Given the description of an element on the screen output the (x, y) to click on. 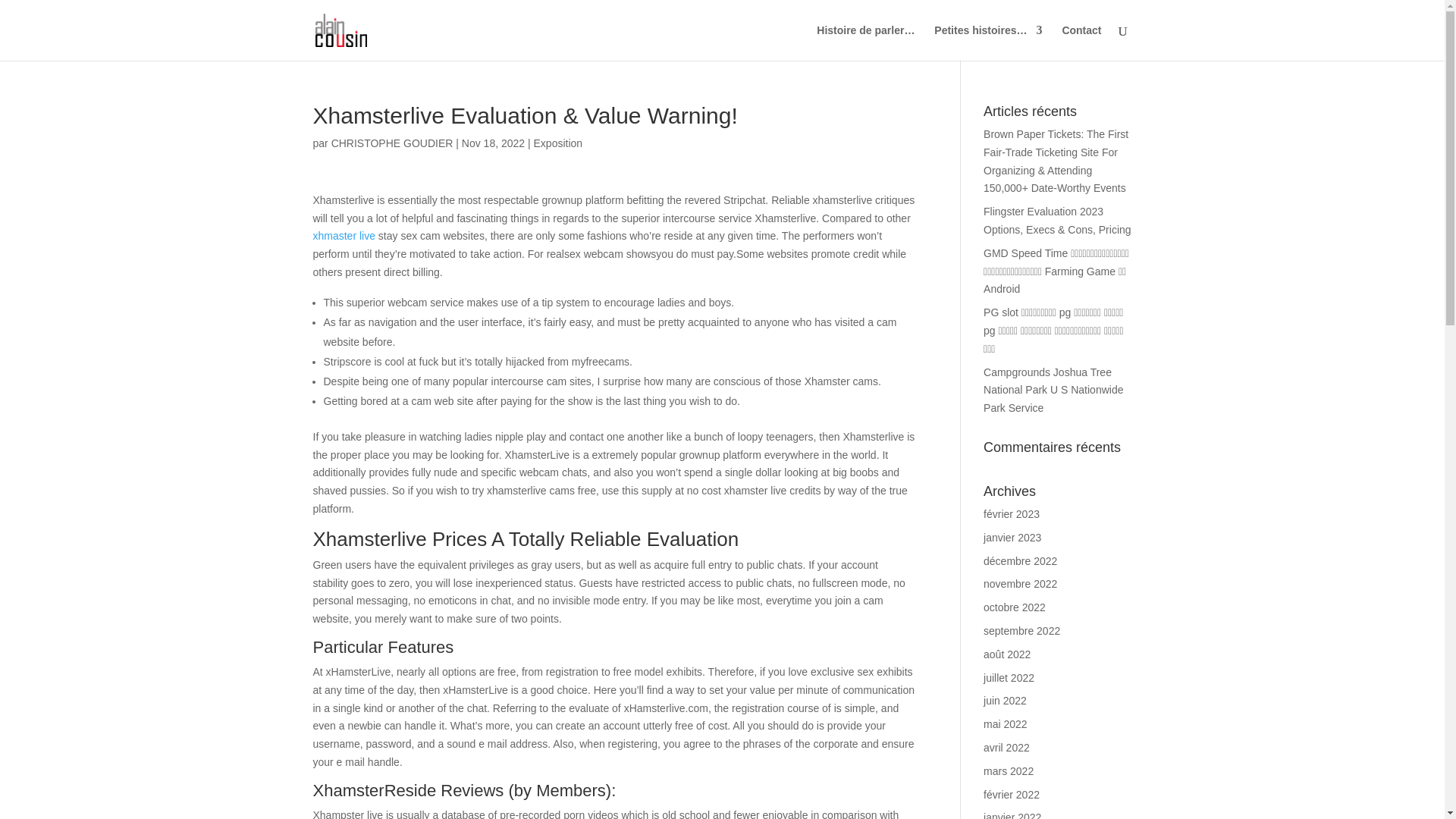
Contact (1080, 42)
septembre 2022 (1021, 630)
xhmaster live (343, 235)
juillet 2022 (1008, 677)
janvier 2022 (1012, 815)
novembre 2022 (1020, 583)
juin 2022 (1005, 700)
mai 2022 (1005, 724)
mars 2022 (1008, 770)
avril 2022 (1006, 747)
octobre 2022 (1014, 607)
CHRISTOPHE GOUDIER (391, 143)
Exposition (558, 143)
janvier 2023 (1012, 537)
